Given the description of an element on the screen output the (x, y) to click on. 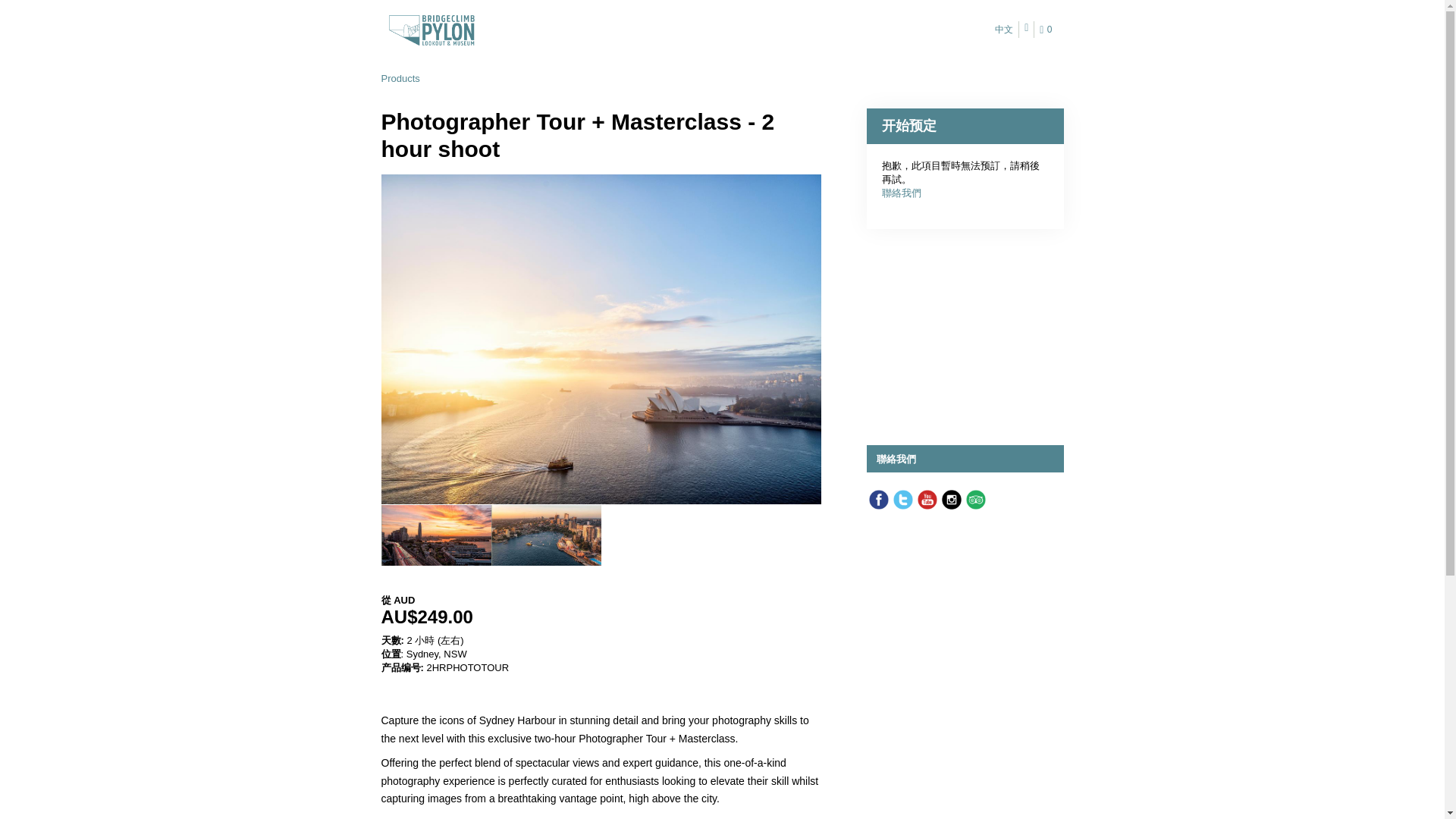
Products (399, 78)
0 (1047, 30)
